Given the description of an element on the screen output the (x, y) to click on. 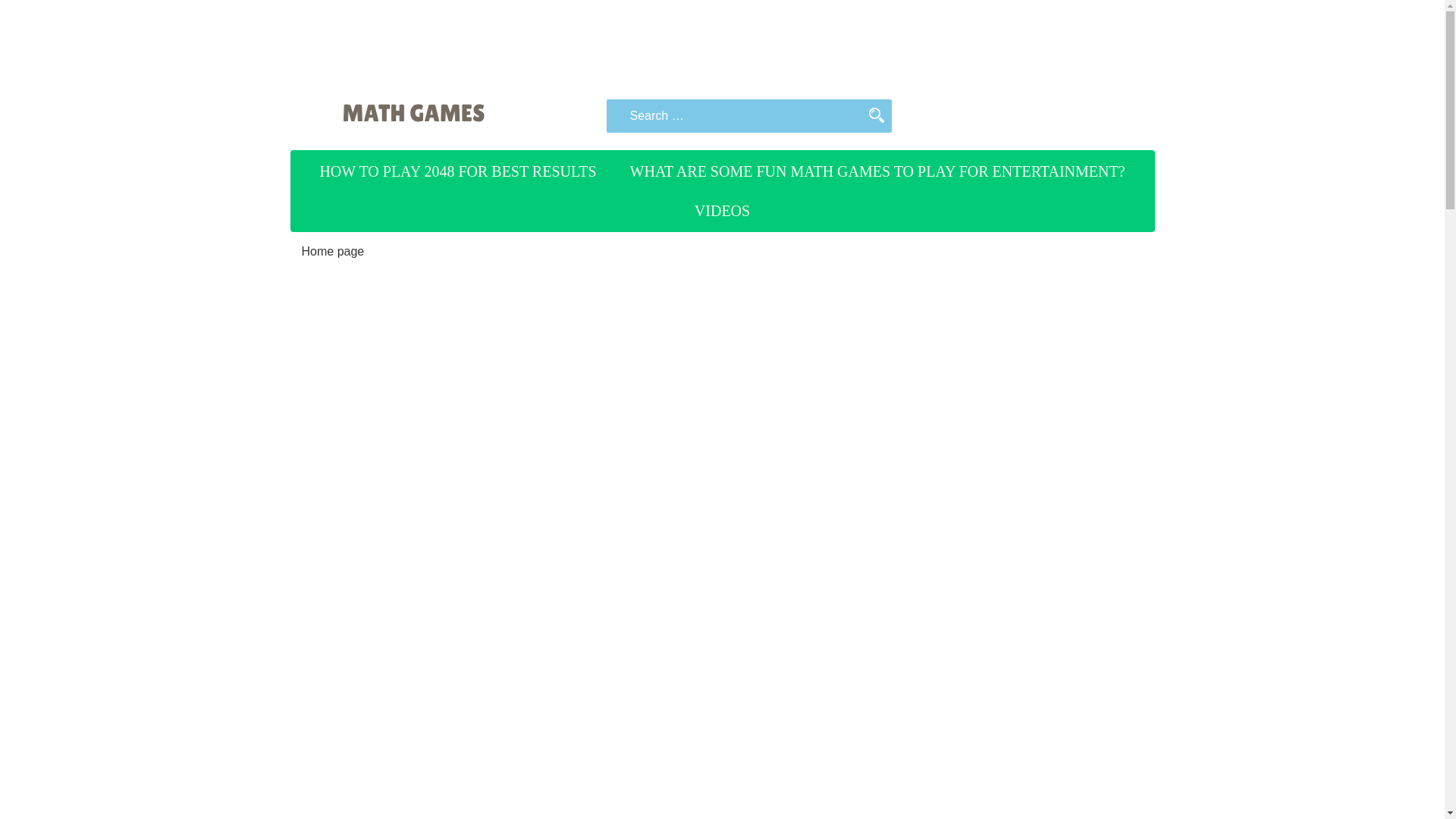
HOW TO PLAY 2048 FOR BEST RESULTS (457, 170)
VIDEOS (721, 210)
WHAT ARE SOME FUN MATH GAMES TO PLAY FOR ENTERTAINMENT? (877, 170)
Home page (333, 250)
